Given the description of an element on the screen output the (x, y) to click on. 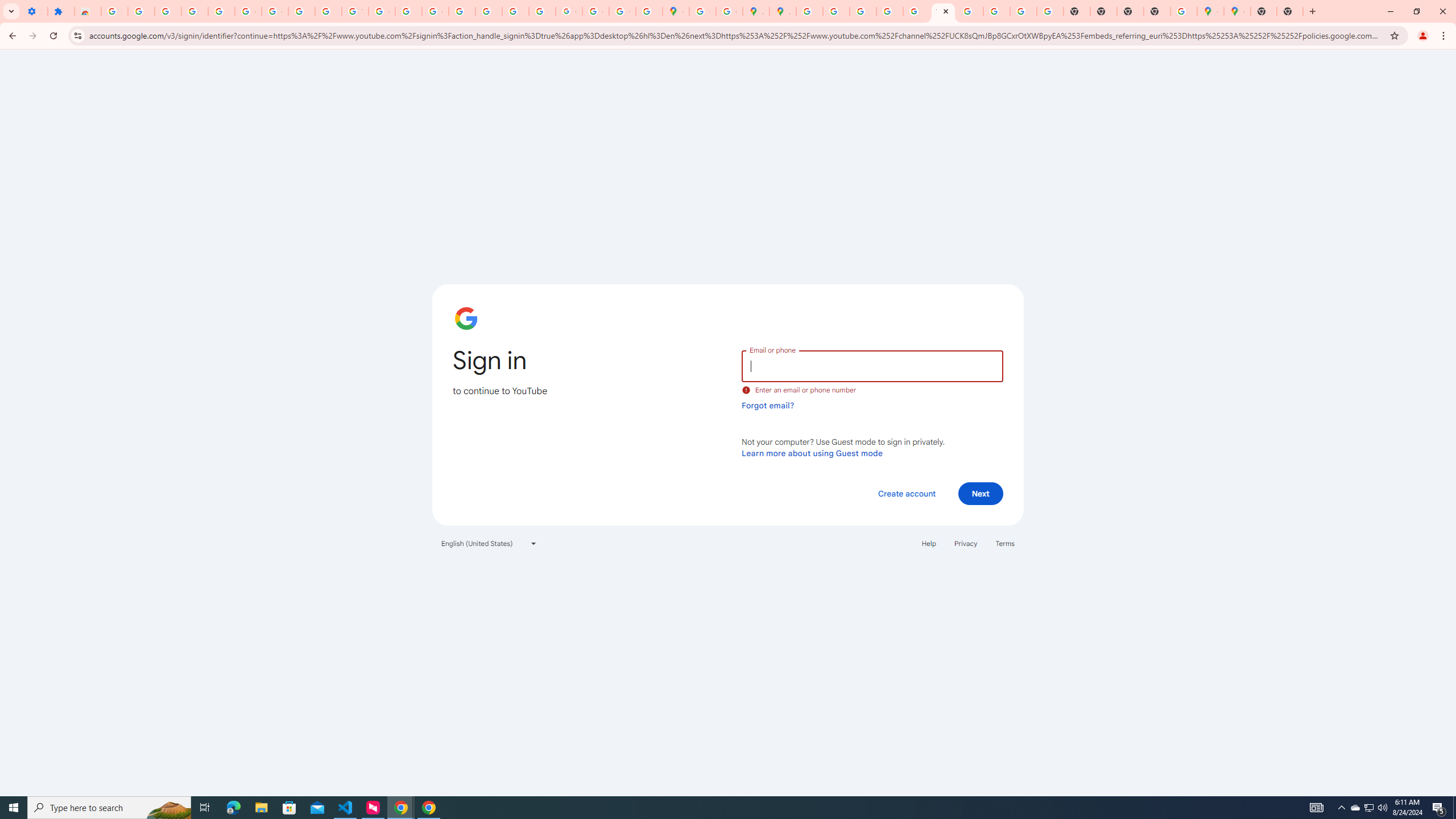
New Tab (1156, 11)
https://scholar.google.com/ (408, 11)
Create account (905, 493)
New Tab (1262, 11)
YouTube (943, 11)
